Given the description of an element on the screen output the (x, y) to click on. 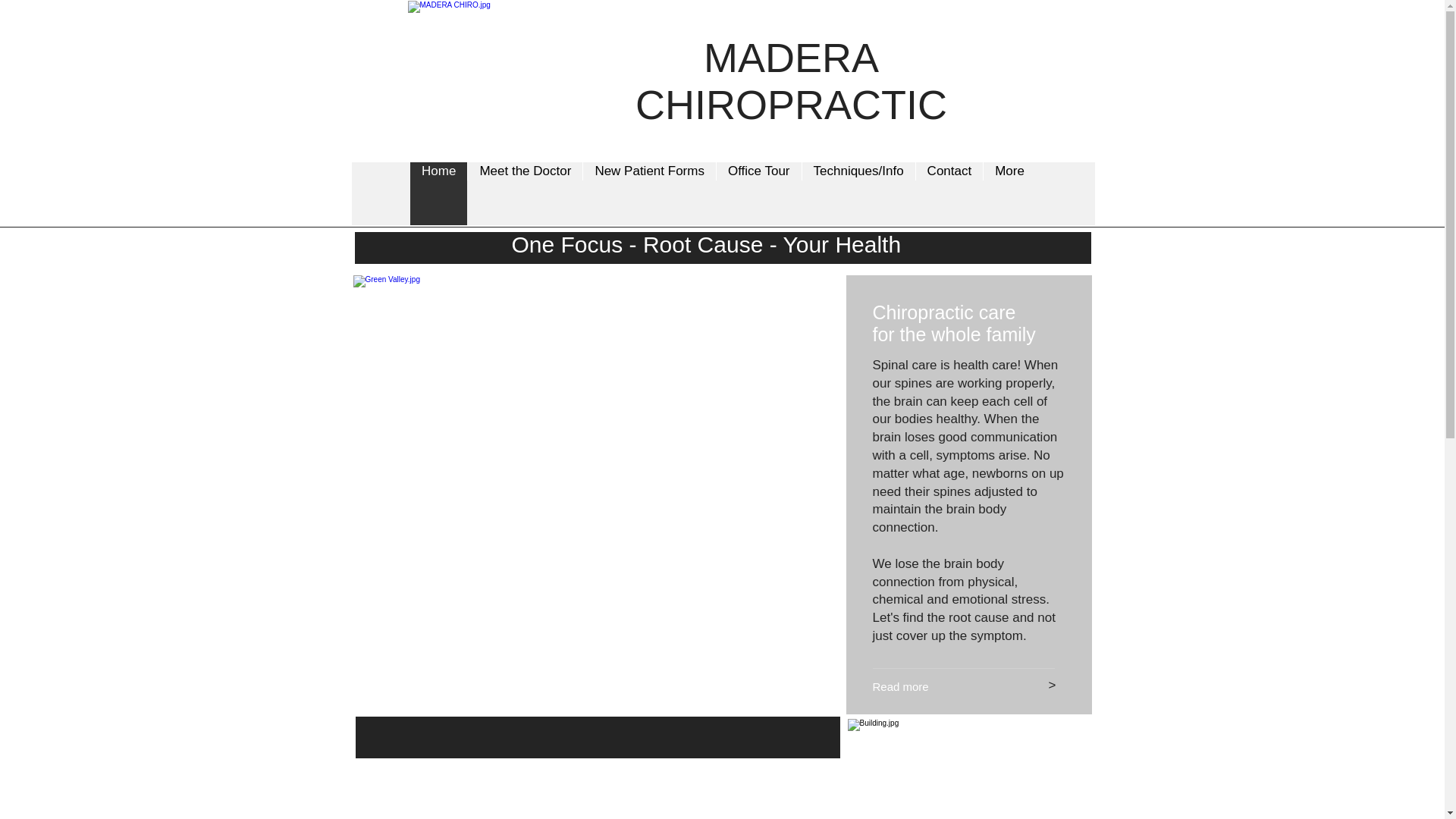
Home (438, 193)
Meet the Doctor (524, 193)
New Patient Forms (649, 193)
MADERA CHIROPRACTIC (790, 81)
Contact (949, 193)
Office Tour (759, 193)
Read more (939, 685)
